Given the description of an element on the screen output the (x, y) to click on. 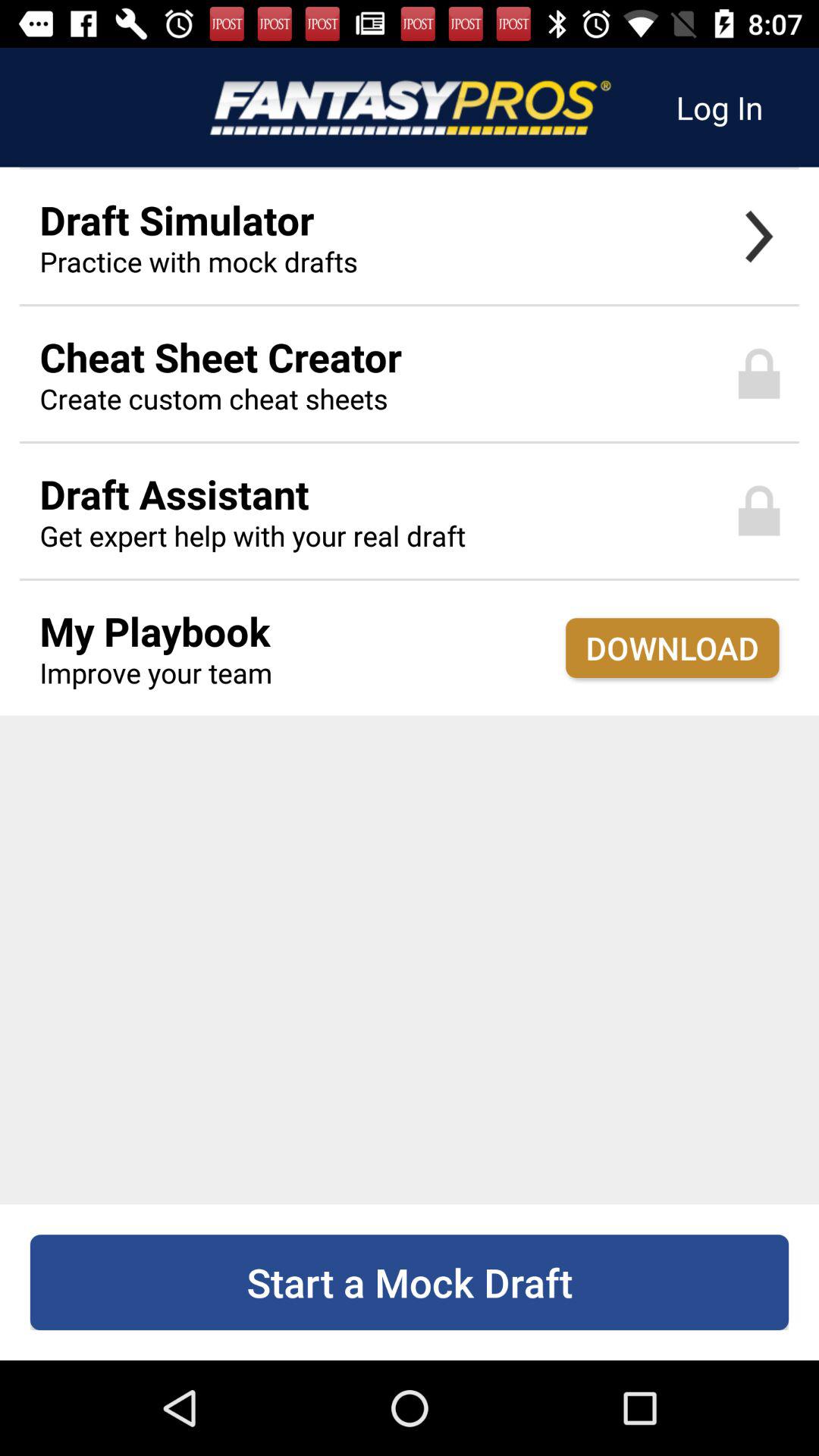
swipe until start a mock (409, 1282)
